Given the description of an element on the screen output the (x, y) to click on. 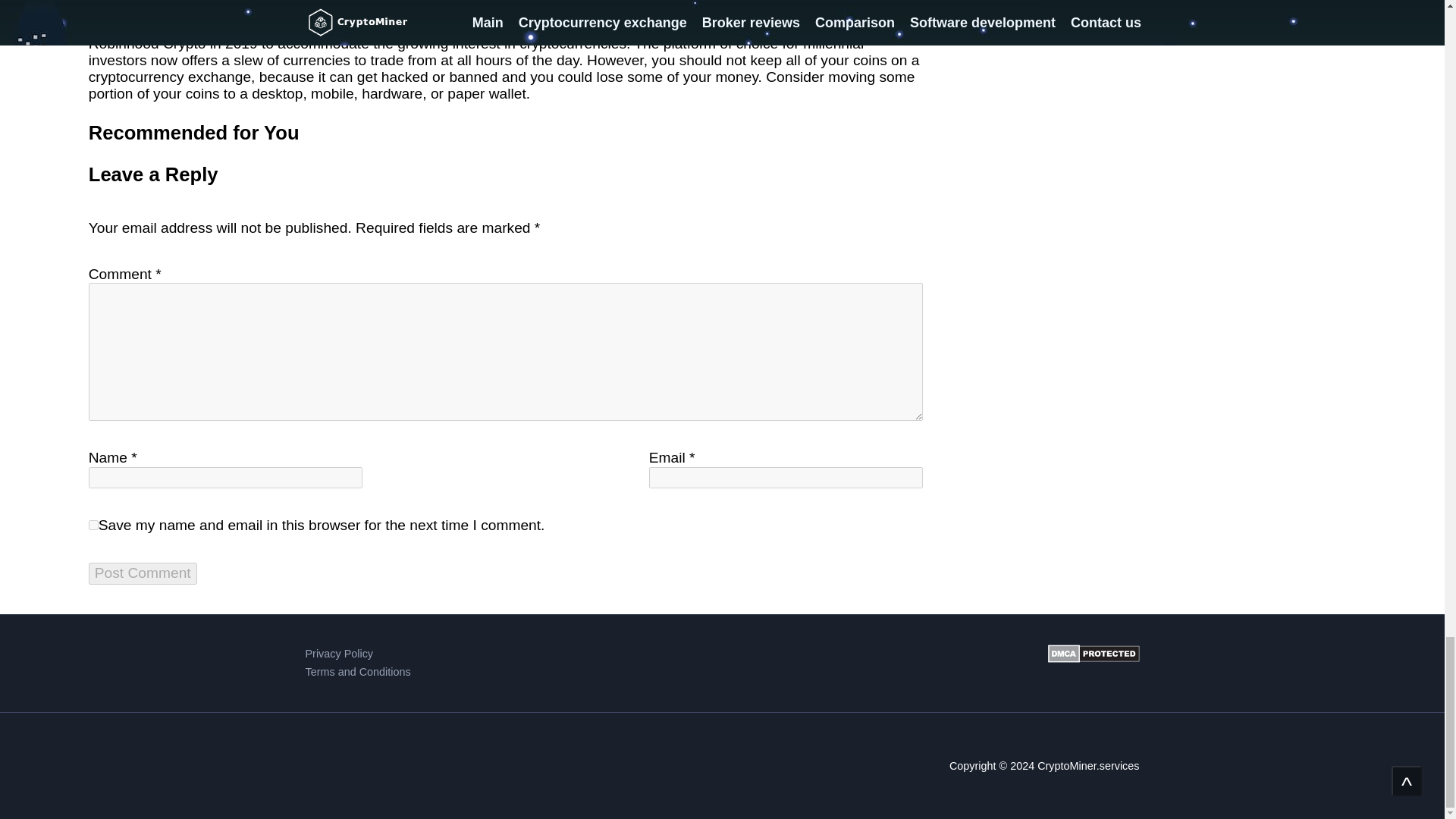
yes (93, 524)
Post Comment (142, 572)
DMCA.com Protection Status (1094, 662)
